Given the description of an element on the screen output the (x, y) to click on. 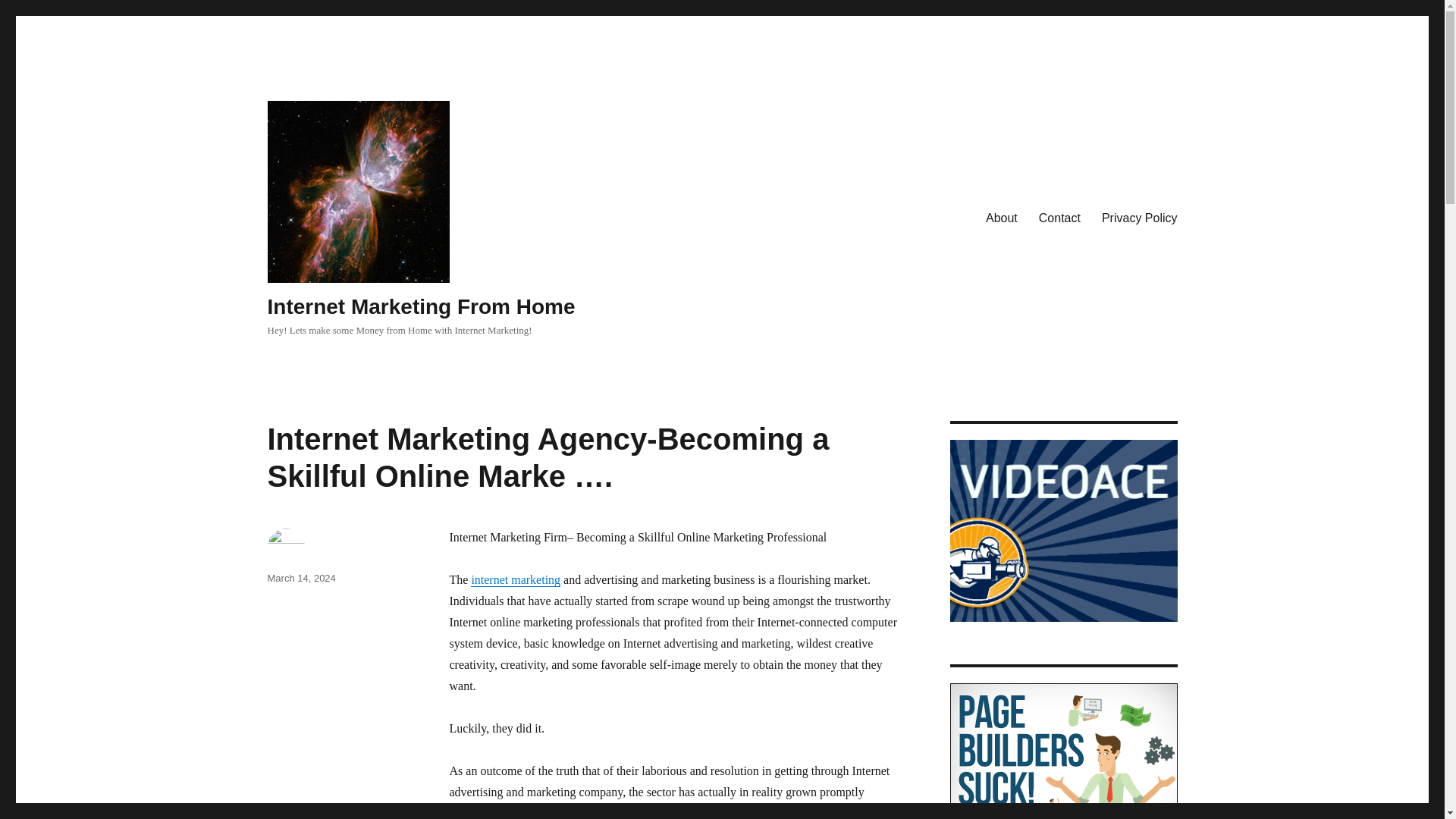
Contact (1058, 218)
March 14, 2024 (300, 577)
Privacy Policy (1139, 218)
About (1001, 218)
internet marketing (515, 579)
Internet Marketing From Home (420, 306)
